Given the description of an element on the screen output the (x, y) to click on. 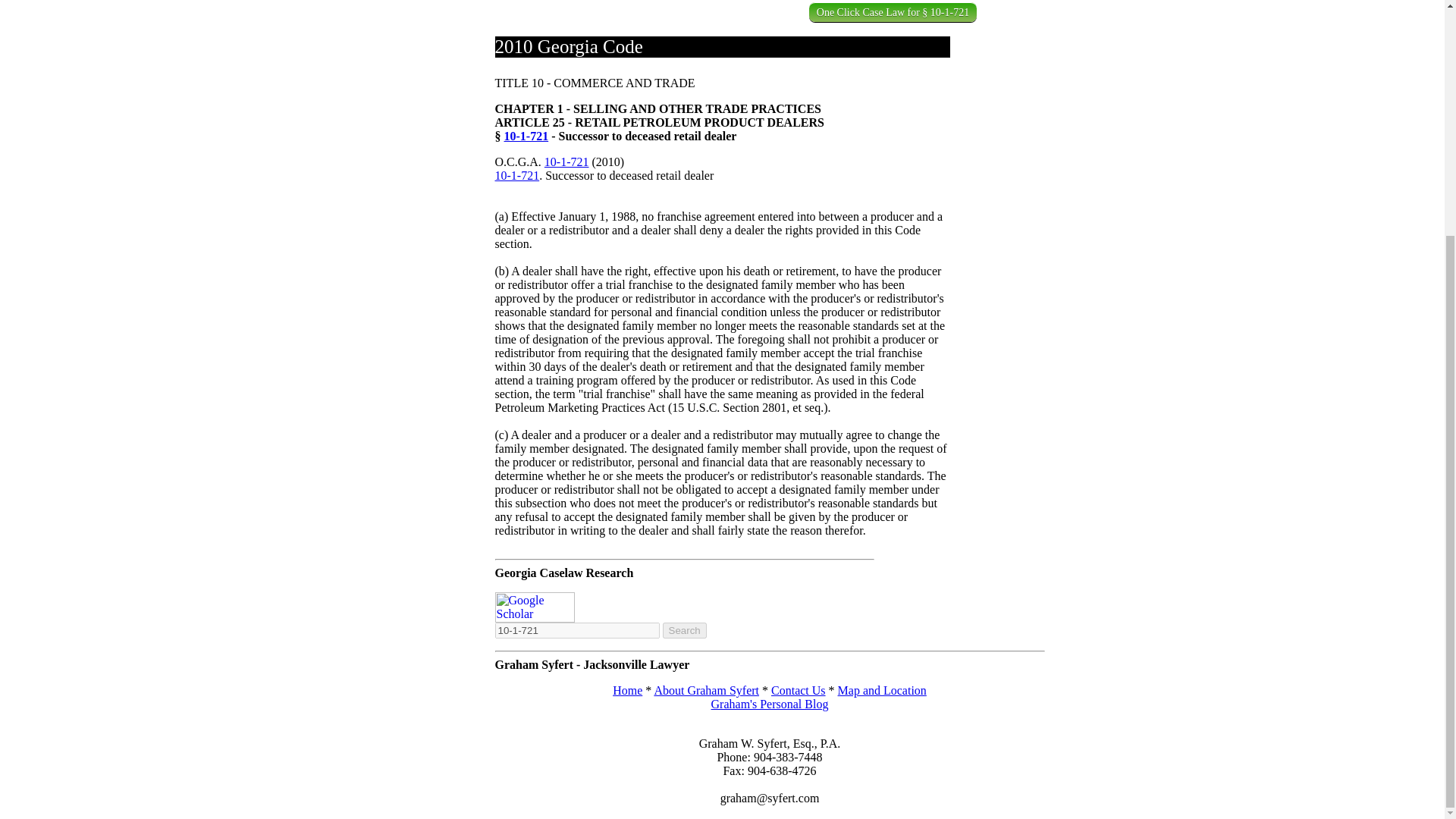
10-1-721 (525, 135)
10-1-721 (566, 161)
Search (684, 630)
10-1-721 (577, 630)
10-1-721 (516, 174)
Search (684, 630)
Home (627, 689)
